Given the description of an element on the screen output the (x, y) to click on. 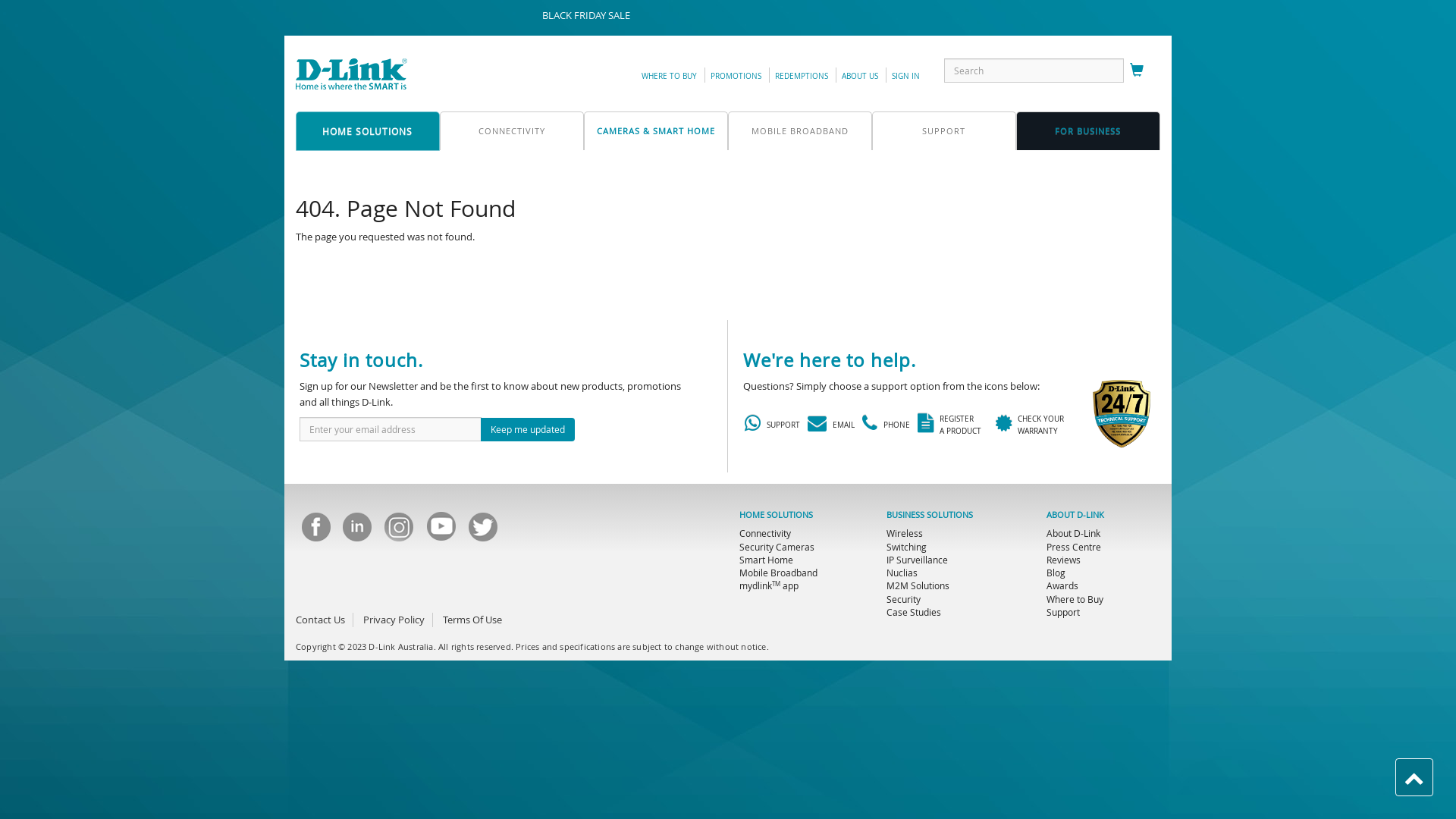
Security Cameras Element type: text (776, 546)
Blog Element type: text (1055, 572)
WHERE TO BUY Element type: text (669, 75)
ABOUT D-LINK Element type: text (1075, 514)
Contact Us Element type: text (320, 619)
mydlinkTM app Element type: text (768, 585)
MOBILE BROADBAND Element type: text (800, 130)
linkedin Element type: hover (357, 531)
Mobile Broadband Element type: text (778, 572)
CHECK YOUR
WARRANTY Element type: text (1028, 424)
Reviews Element type: text (1063, 559)
IP Surveillance Element type: text (916, 559)
FOR BUSINESS Element type: text (1088, 130)
instagram Element type: hover (398, 531)
CAMERAS & SMART HOME Element type: text (655, 130)
Terms Of Use Element type: text (472, 619)
youtube Element type: hover (440, 531)
Case Studies Element type: text (913, 611)
PHONE Element type: text (883, 424)
HOME SOLUTIONS Element type: text (775, 514)
PROMOTIONS Element type: text (735, 75)
Privacy Policy Element type: text (393, 619)
Wireless Element type: text (904, 533)
Connectivity Element type: text (764, 533)
Support Element type: text (1062, 611)
SUPPORT Element type: text (944, 130)
M2M Solutions Element type: text (917, 585)
Security Element type: text (903, 599)
HOME SOLUTIONS Element type: text (367, 130)
REDEMPTIONS Element type: text (801, 75)
BUSINESS SOLUTIONS Element type: text (929, 514)
Keep me updated Element type: text (527, 429)
SUPPORT Element type: text (769, 424)
Awards Element type: text (1062, 585)
Press Centre Element type: text (1073, 546)
ABOUT US Element type: text (859, 75)
twitter Element type: hover (482, 531)
EMAIL Element type: text (828, 424)
Where to Buy Element type: text (1074, 599)
Nuclias Element type: text (901, 572)
REGISTER
A PRODUCT Element type: text (950, 424)
Switching Element type: text (906, 546)
About D-Link Element type: text (1073, 533)
Smart Home Element type: text (766, 559)
CONNECTIVITY Element type: text (511, 130)
facebook Element type: hover (315, 531)
SIGN IN Element type: text (905, 75)
